Given the description of an element on the screen output the (x, y) to click on. 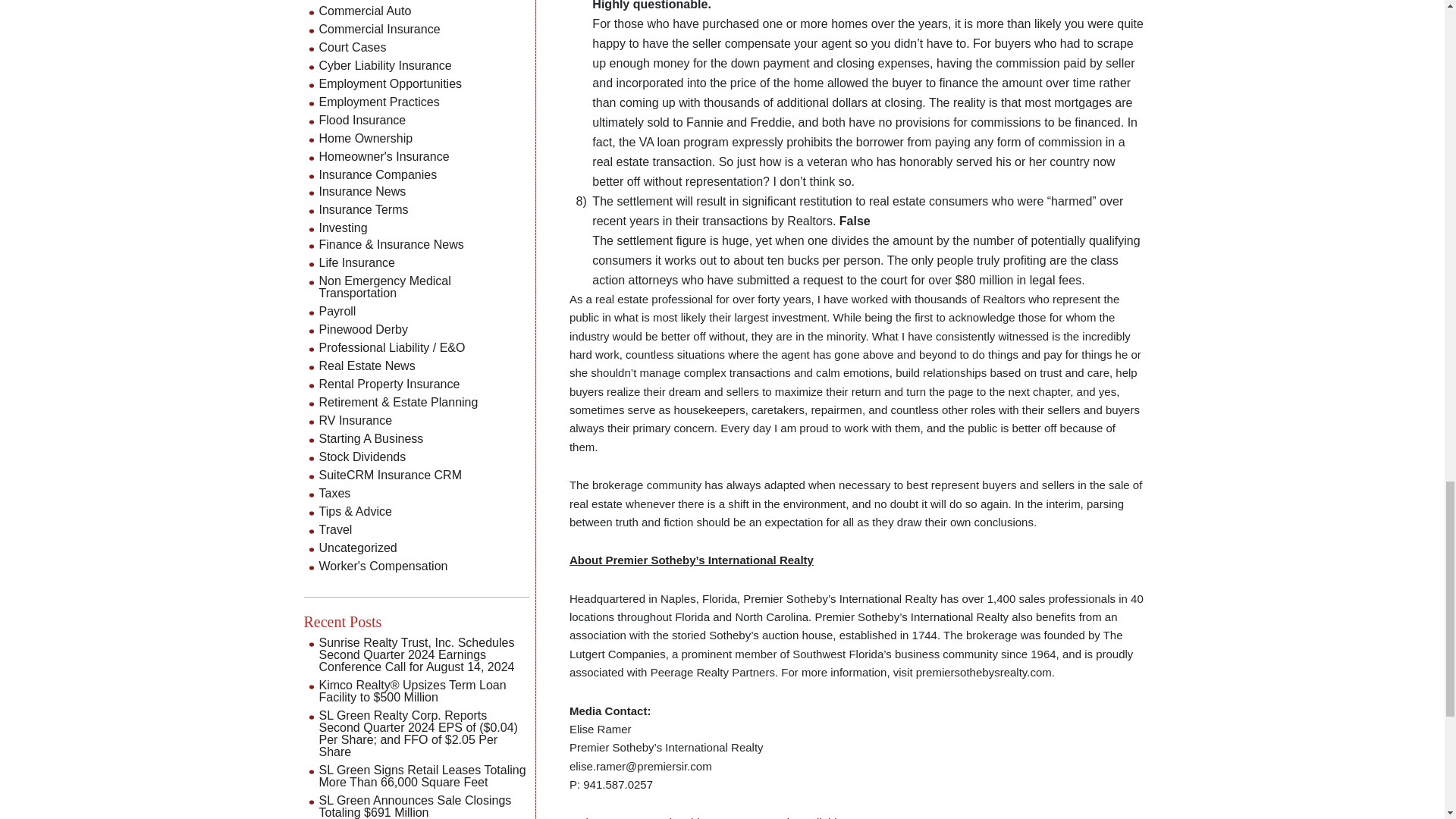
Employment Opportunities (389, 83)
Cyber Liability Insurance (384, 65)
Employment Practices (378, 101)
Commercial Auto (364, 10)
Commercial Insurance (378, 29)
Court Cases (351, 47)
